Given the description of an element on the screen output the (x, y) to click on. 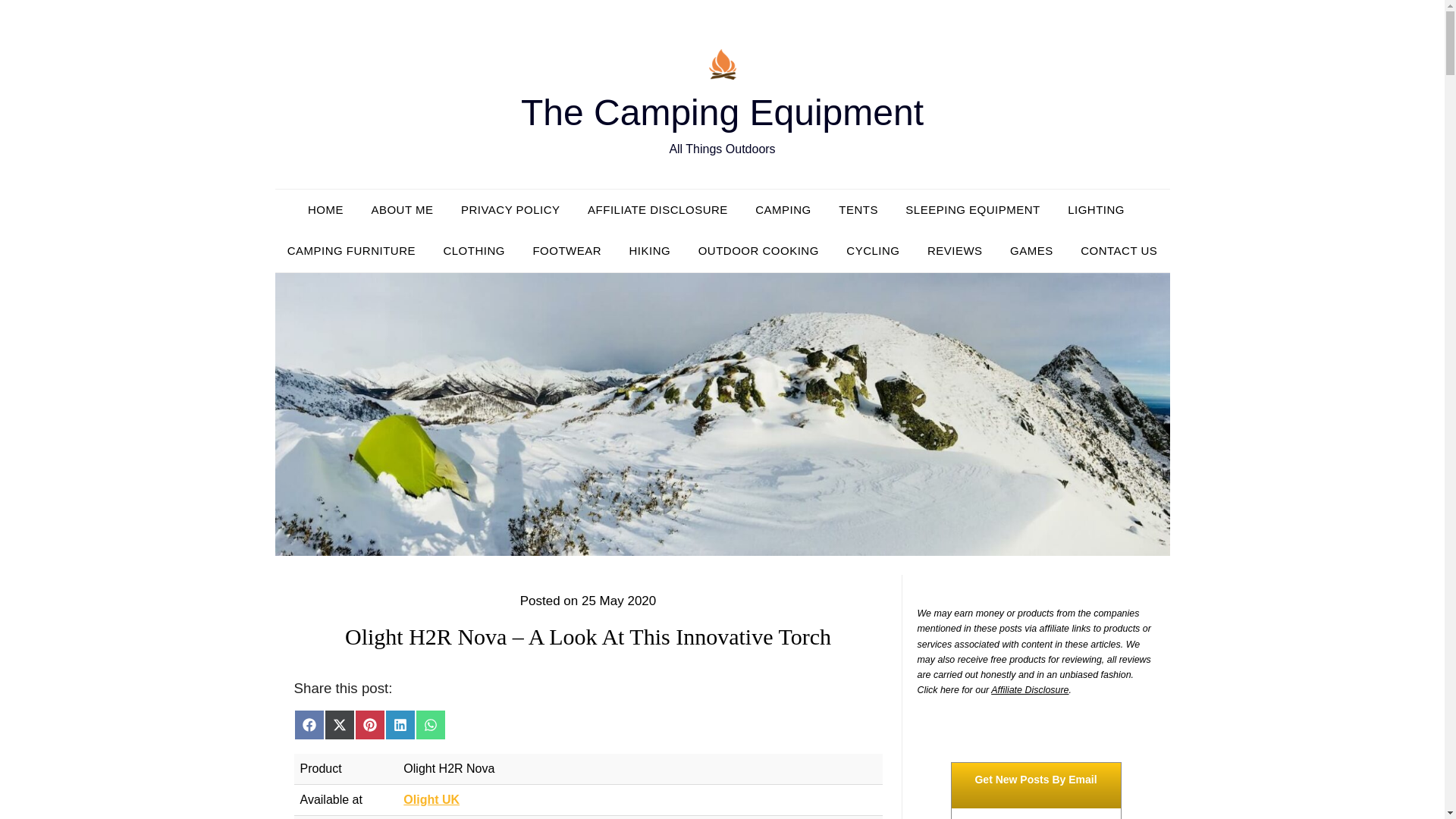
AFFILIATE DISCLOSURE (657, 209)
SLEEPING EQUIPMENT (972, 209)
CLOTHING (473, 250)
25 May 2020 (618, 600)
FOOTWEAR (565, 250)
CYCLING (872, 250)
PRIVACY POLICY (510, 209)
CAMPING FURNITURE (351, 250)
REVIEWS (954, 250)
The Camping Equipment (722, 112)
GAMES (1031, 250)
OUTDOOR COOKING (758, 250)
Olight UK (431, 799)
CONTACT US (1118, 250)
HIKING (649, 250)
